Given the description of an element on the screen output the (x, y) to click on. 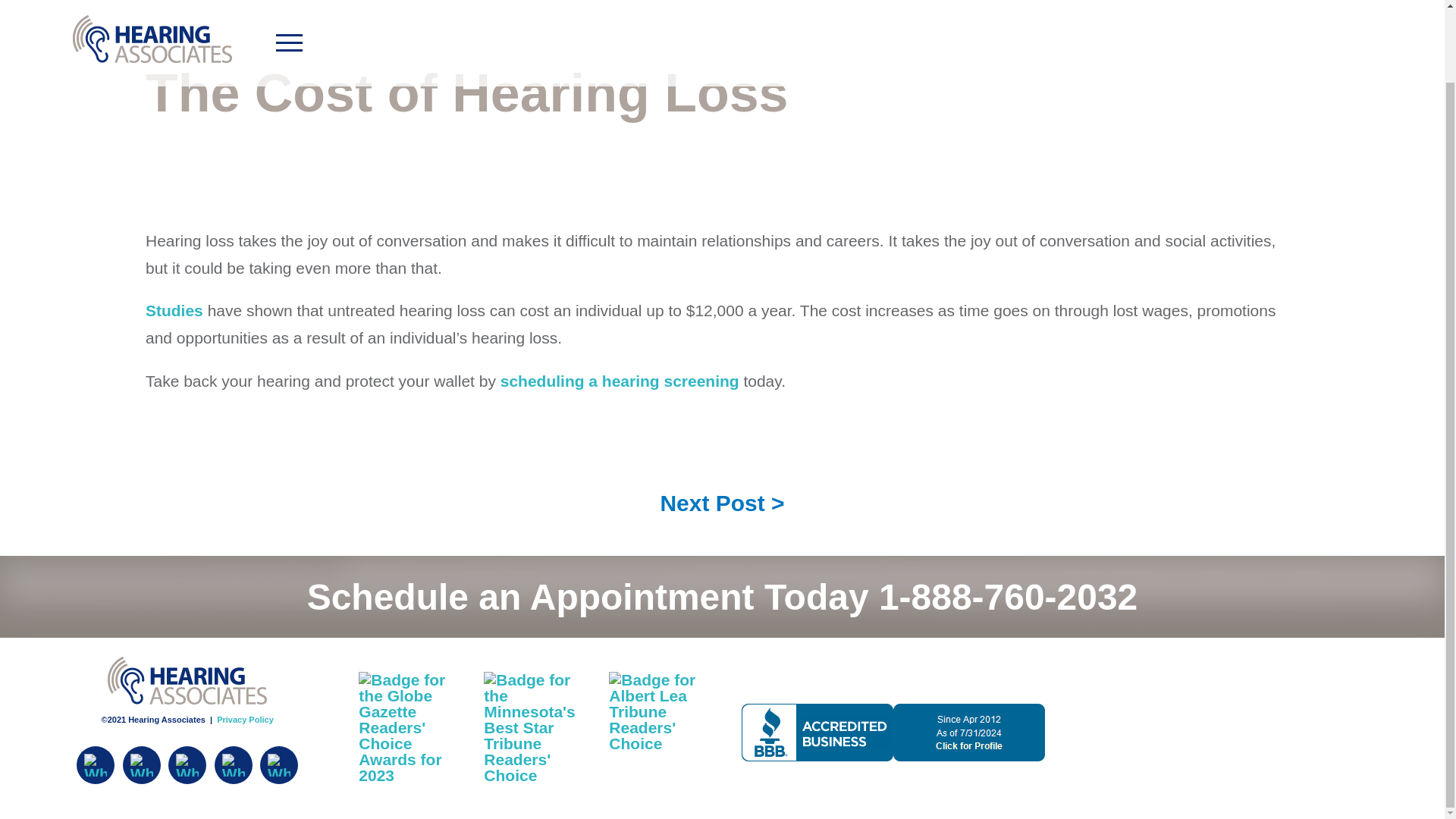
Studies (174, 310)
Privacy Policy (244, 718)
scheduling a hearing screening (619, 380)
Schedule an Appointment Today (588, 597)
1-888-760-2032 (1008, 597)
